Given the description of an element on the screen output the (x, y) to click on. 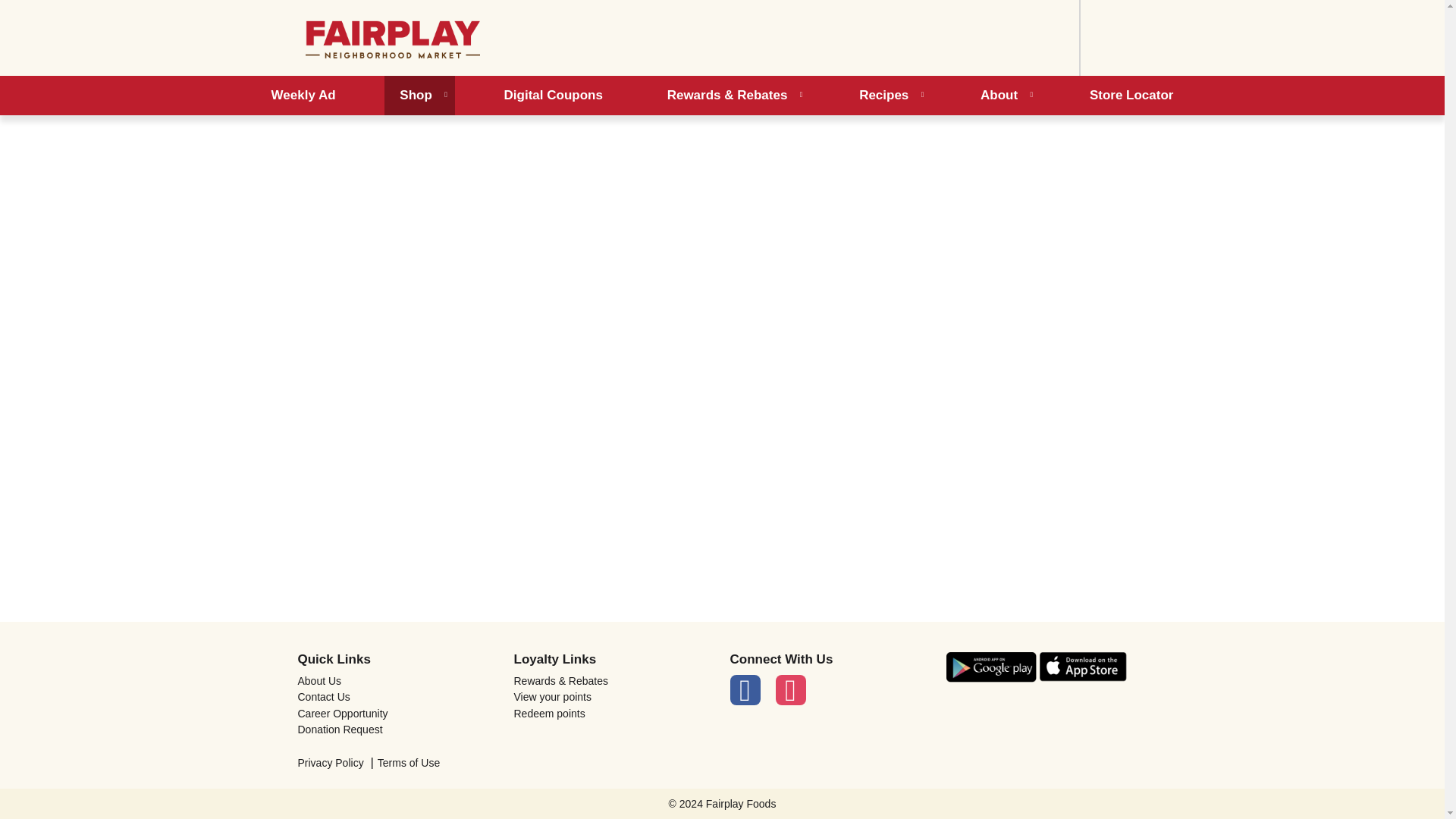
Contact Us (397, 696)
Recipes (887, 95)
About Us (397, 680)
Shop (419, 95)
instagram (789, 689)
Donation Request (397, 729)
Facebook (744, 689)
Career Opportunity (397, 713)
Store Locator (1131, 95)
Weekly Ad (303, 95)
